Given the description of an element on the screen output the (x, y) to click on. 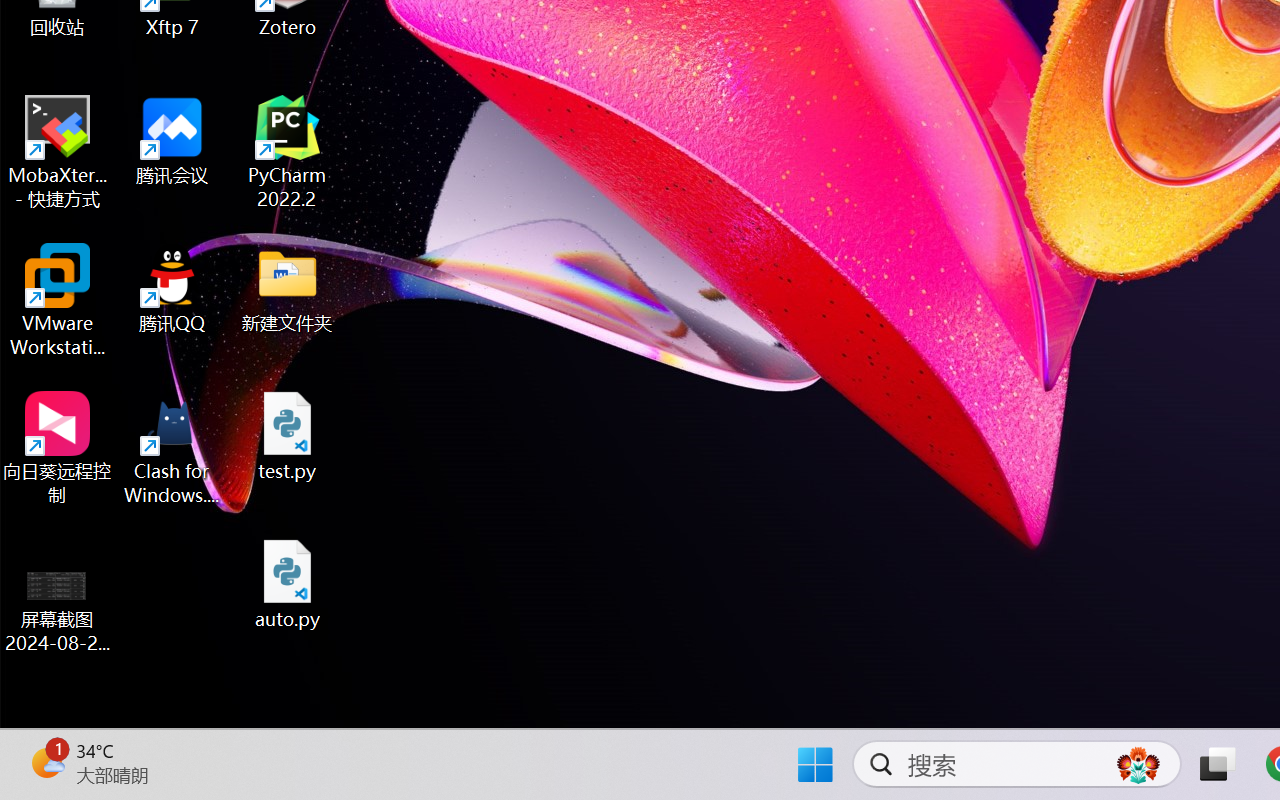
auto.py (287, 584)
test.py (287, 436)
